Given the description of an element on the screen output the (x, y) to click on. 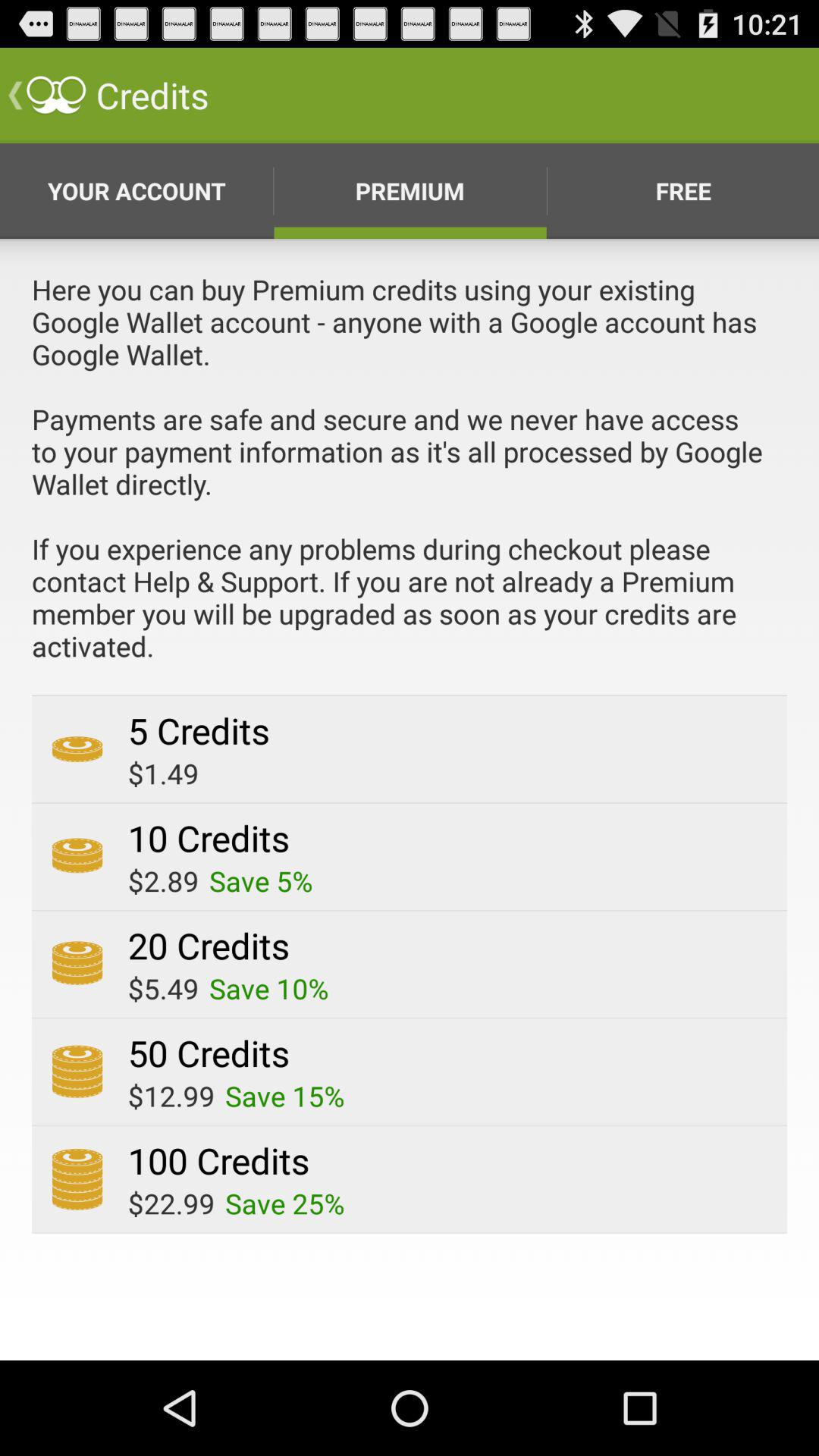
scroll to 10 credits (208, 837)
